Given the description of an element on the screen output the (x, y) to click on. 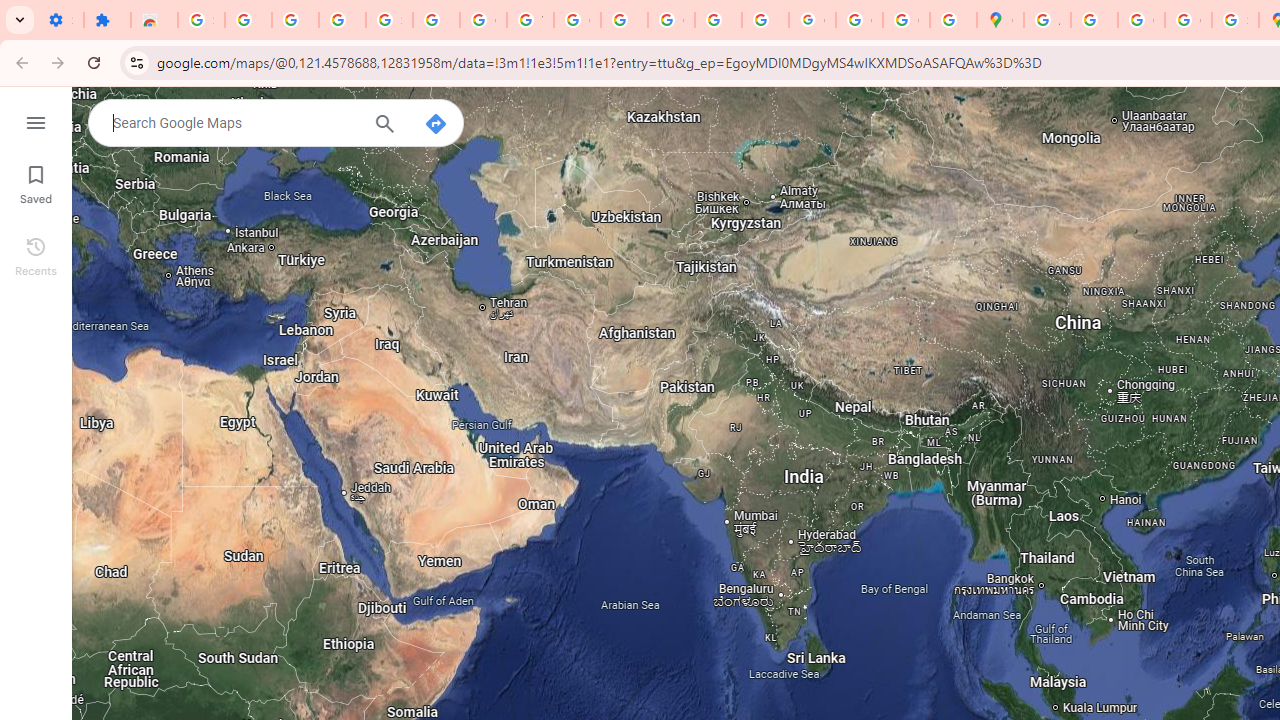
Safety in Our Products - Google Safety Center (1235, 20)
Delete photos & videos - Computer - Google Photos Help (248, 20)
Search Google Maps (234, 122)
Menu (35, 120)
Directions (436, 124)
